Given the description of an element on the screen output the (x, y) to click on. 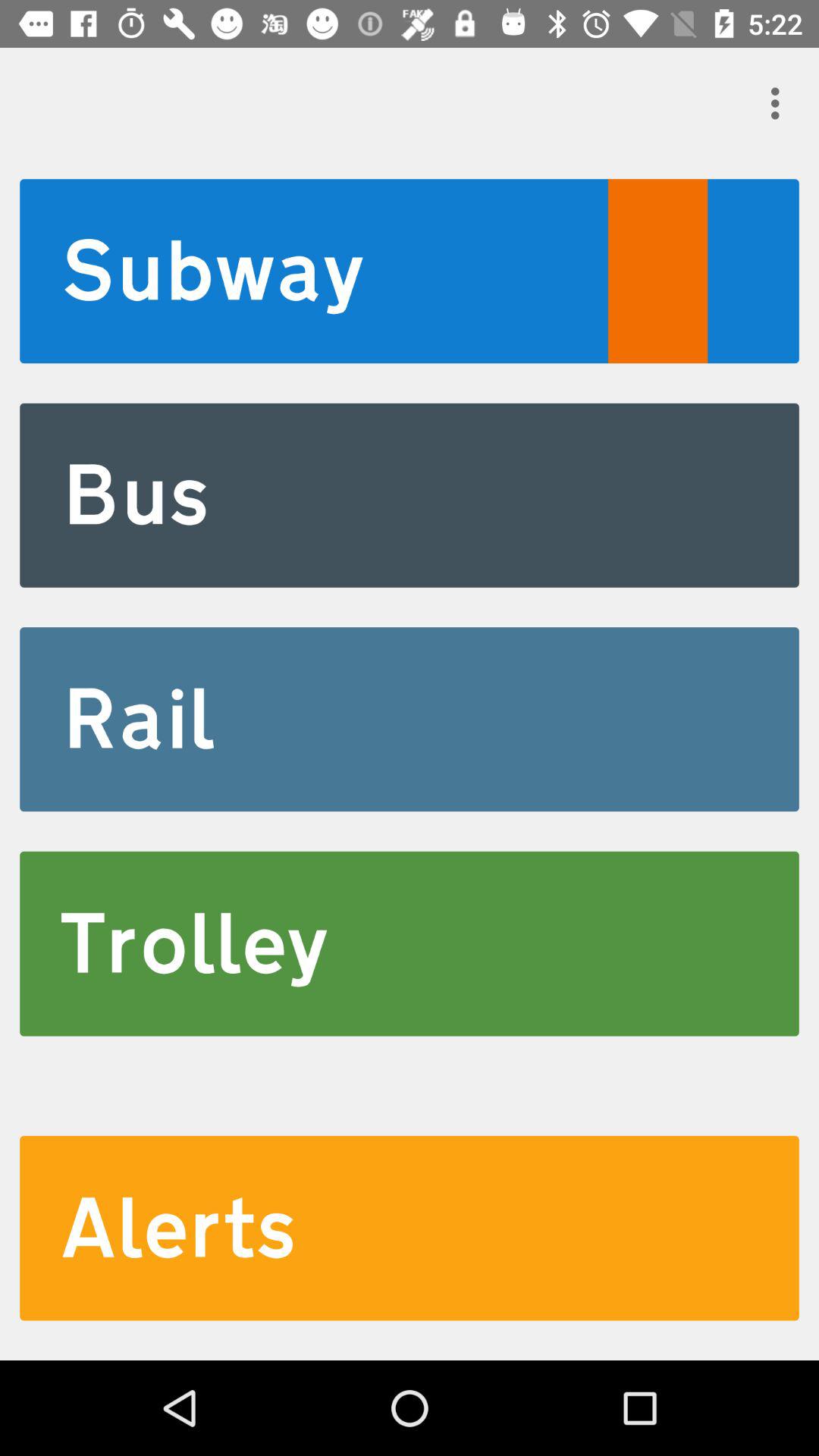
launch the item above rail icon (409, 495)
